Given the description of an element on the screen output the (x, y) to click on. 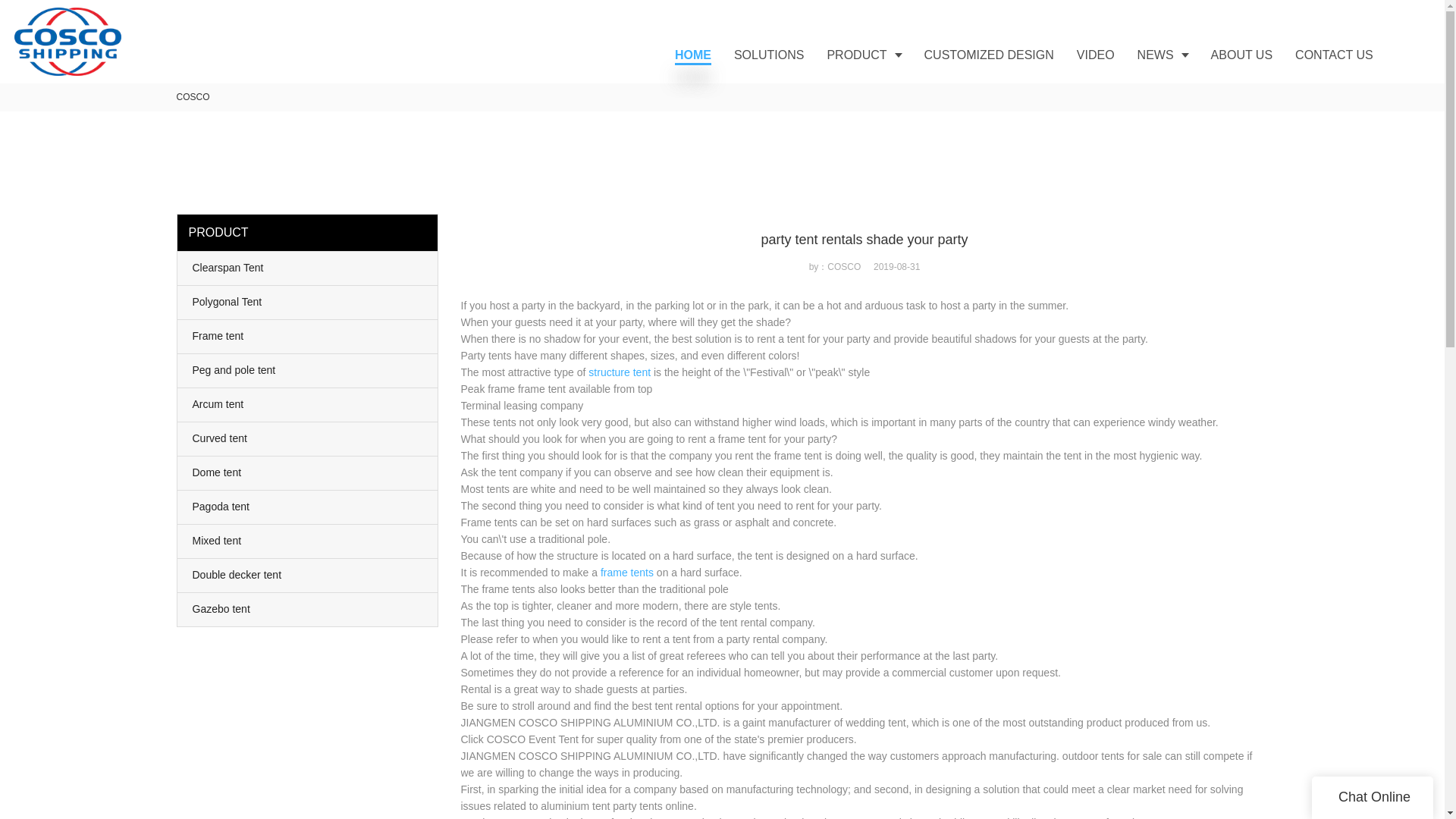
Dome tent (307, 472)
frame tents (626, 572)
NEWS (1162, 55)
Pagoda tent (307, 507)
CUSTOMIZED DESIGN (988, 55)
Clearspan Tent (307, 268)
Mixed tent (307, 540)
Gazebo tent (307, 609)
Peg and pole tent (307, 370)
structure tent (619, 372)
